Given the description of an element on the screen output the (x, y) to click on. 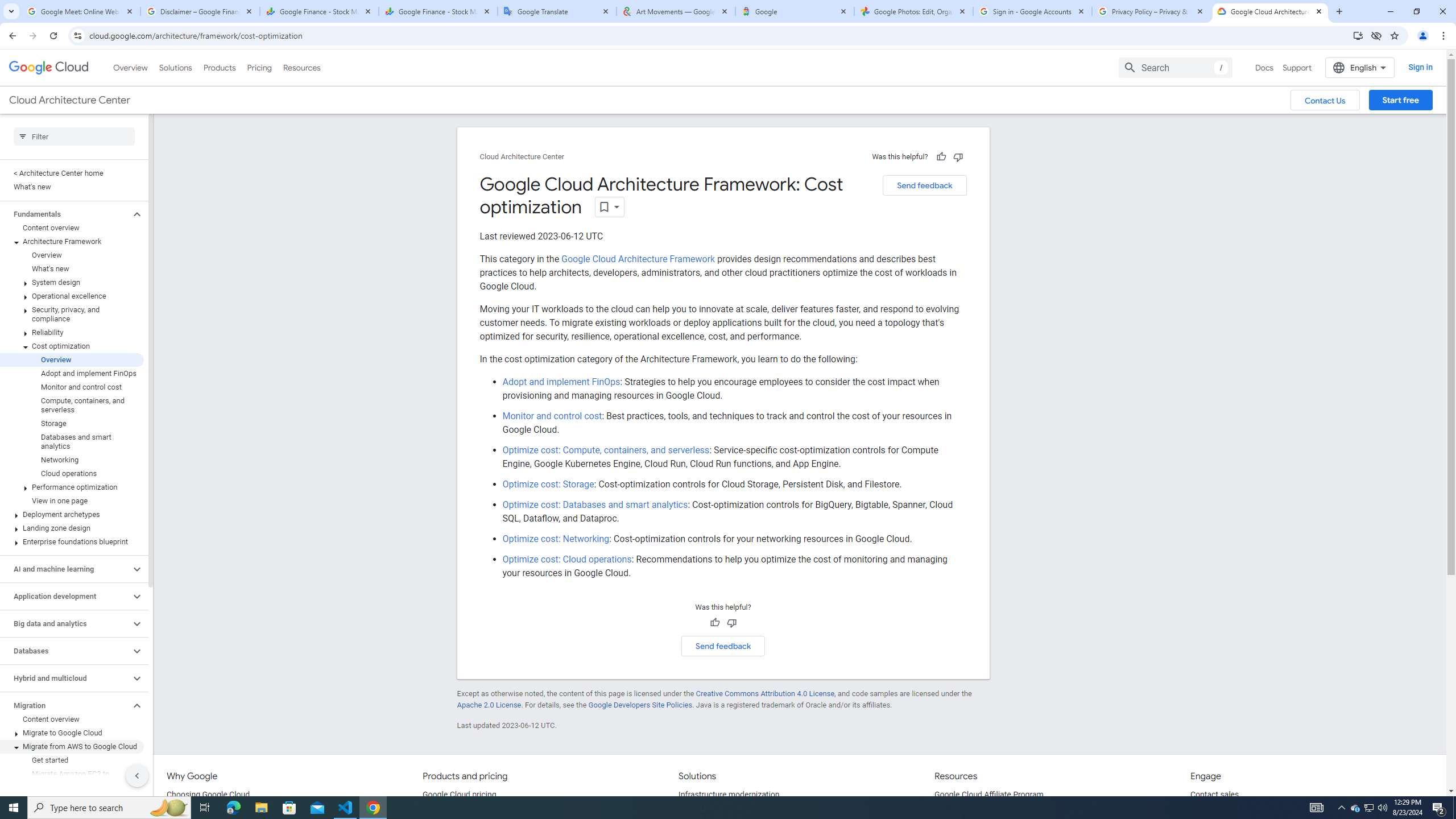
Get started (72, 760)
Architecture Framework (72, 241)
Cost optimization (72, 345)
Support (1296, 67)
Content overview (72, 719)
Choosing Google Cloud (207, 795)
Google Developers Site Policies (639, 705)
Migrate Amazon EC2 to Compute Engine (72, 778)
Big data and analytics (64, 623)
Sign in - Google Accounts (1032, 11)
Optimize cost: Networking (556, 538)
